Given the description of an element on the screen output the (x, y) to click on. 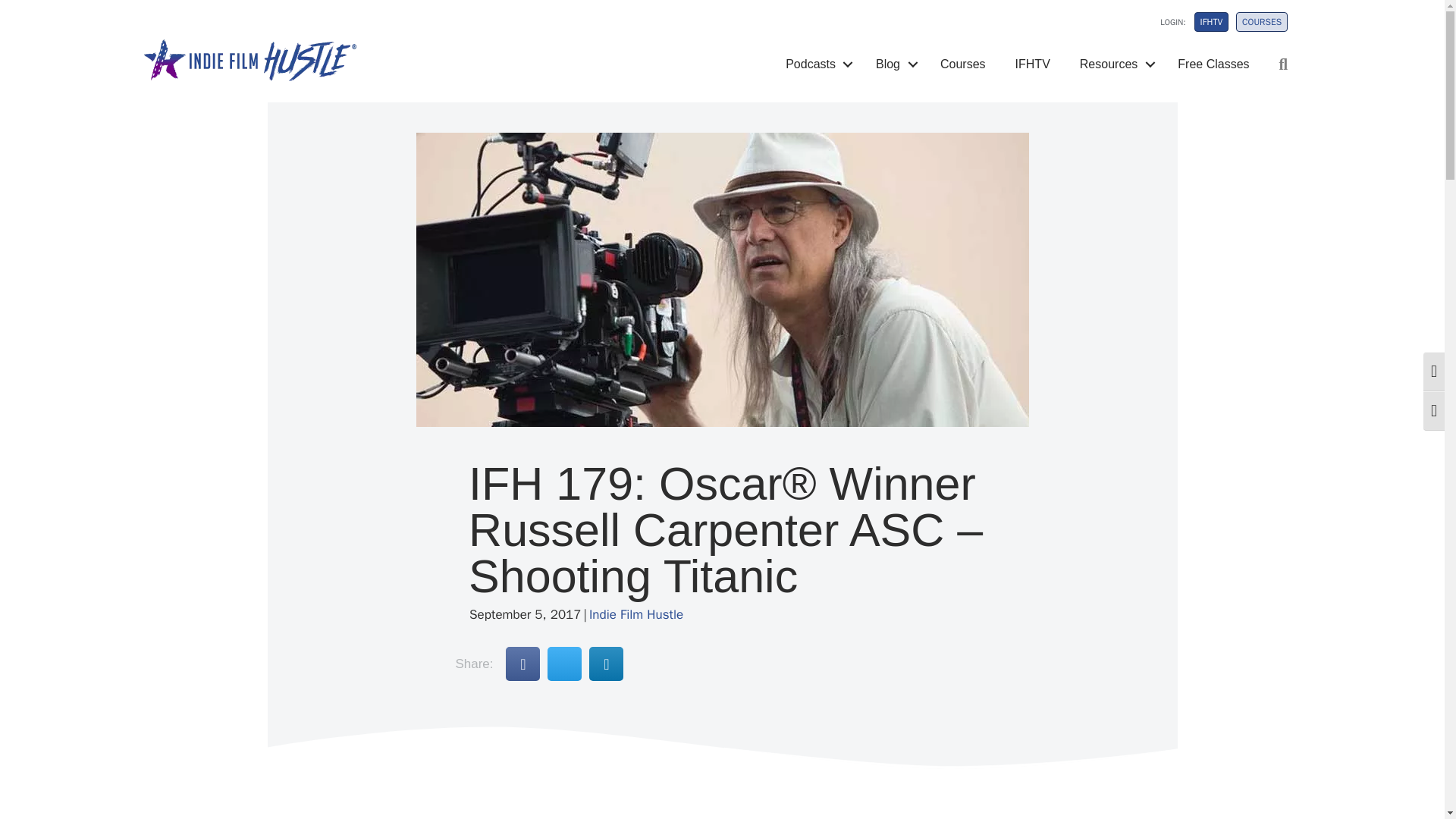
IFHTV (1210, 21)
Courses (963, 64)
Podcasts (815, 64)
COURSES (1261, 21)
Free Classes (1213, 64)
Indie Film Hustle (635, 614)
Resources (1113, 64)
IFHTV (1032, 64)
Blog (892, 64)
LOGIN: (1163, 26)
